Given the description of an element on the screen output the (x, y) to click on. 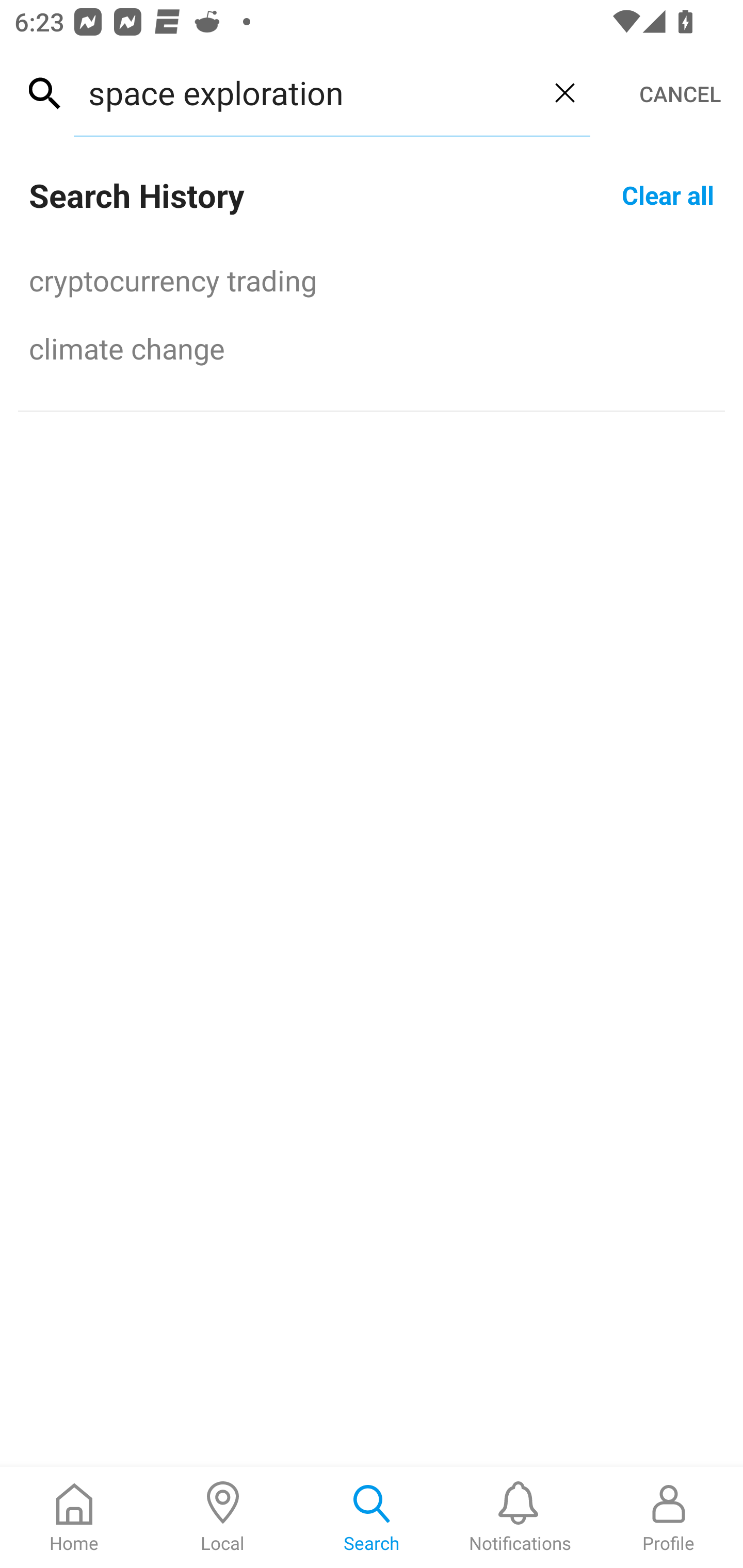
Clear query (564, 92)
CANCEL (680, 93)
space exploration (306, 92)
Clear all (667, 194)
cryptocurrency trading (371, 279)
climate change (371, 347)
Home (74, 1517)
Local (222, 1517)
Notifications (519, 1517)
Profile (668, 1517)
